Given the description of an element on the screen output the (x, y) to click on. 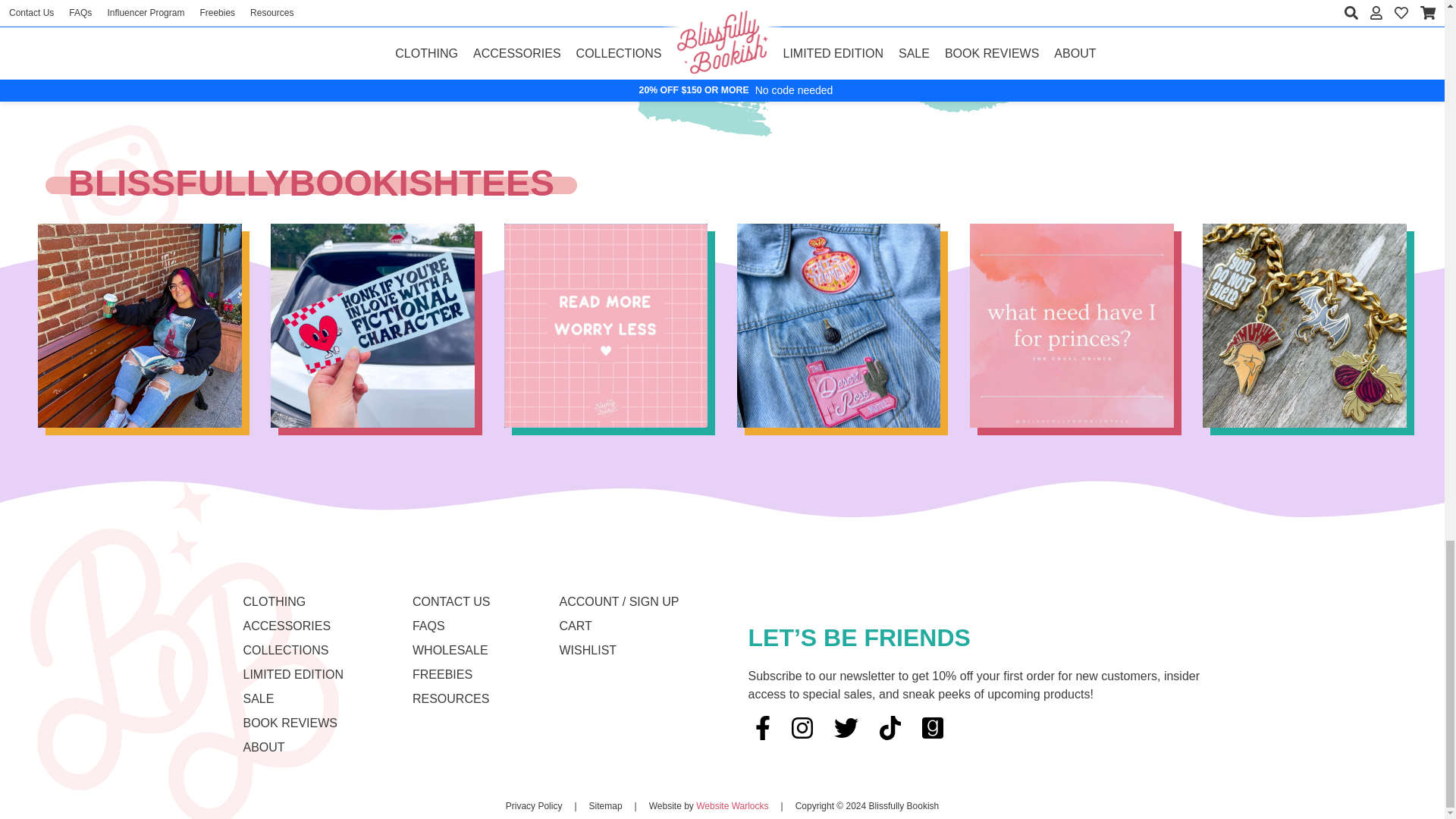
Goodreads (932, 727)
TikTok (890, 727)
Instagram (802, 727)
Facebook (762, 727)
Twitter (846, 727)
